Given the description of an element on the screen output the (x, y) to click on. 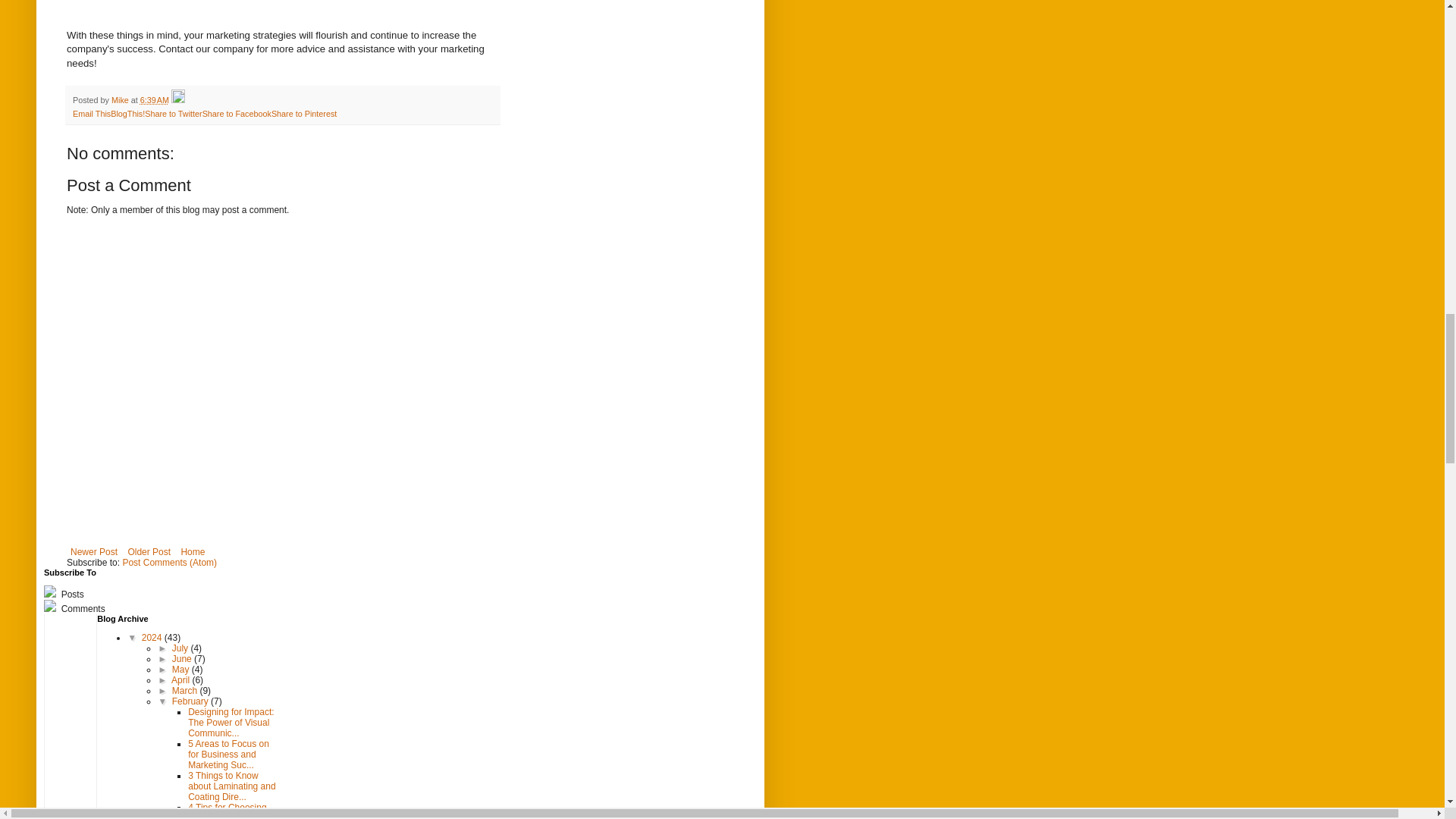
May (181, 669)
Newer Post (93, 551)
June (182, 658)
Newer Post (93, 551)
Email This (91, 112)
Older Post (148, 551)
Share to Pinterest (303, 112)
Share to Facebook (236, 112)
author profile (121, 99)
Share to Pinterest (303, 112)
2024 (152, 637)
BlogThis! (127, 112)
Share to Twitter (173, 112)
Share to Twitter (173, 112)
April (181, 679)
